Given the description of an element on the screen output the (x, y) to click on. 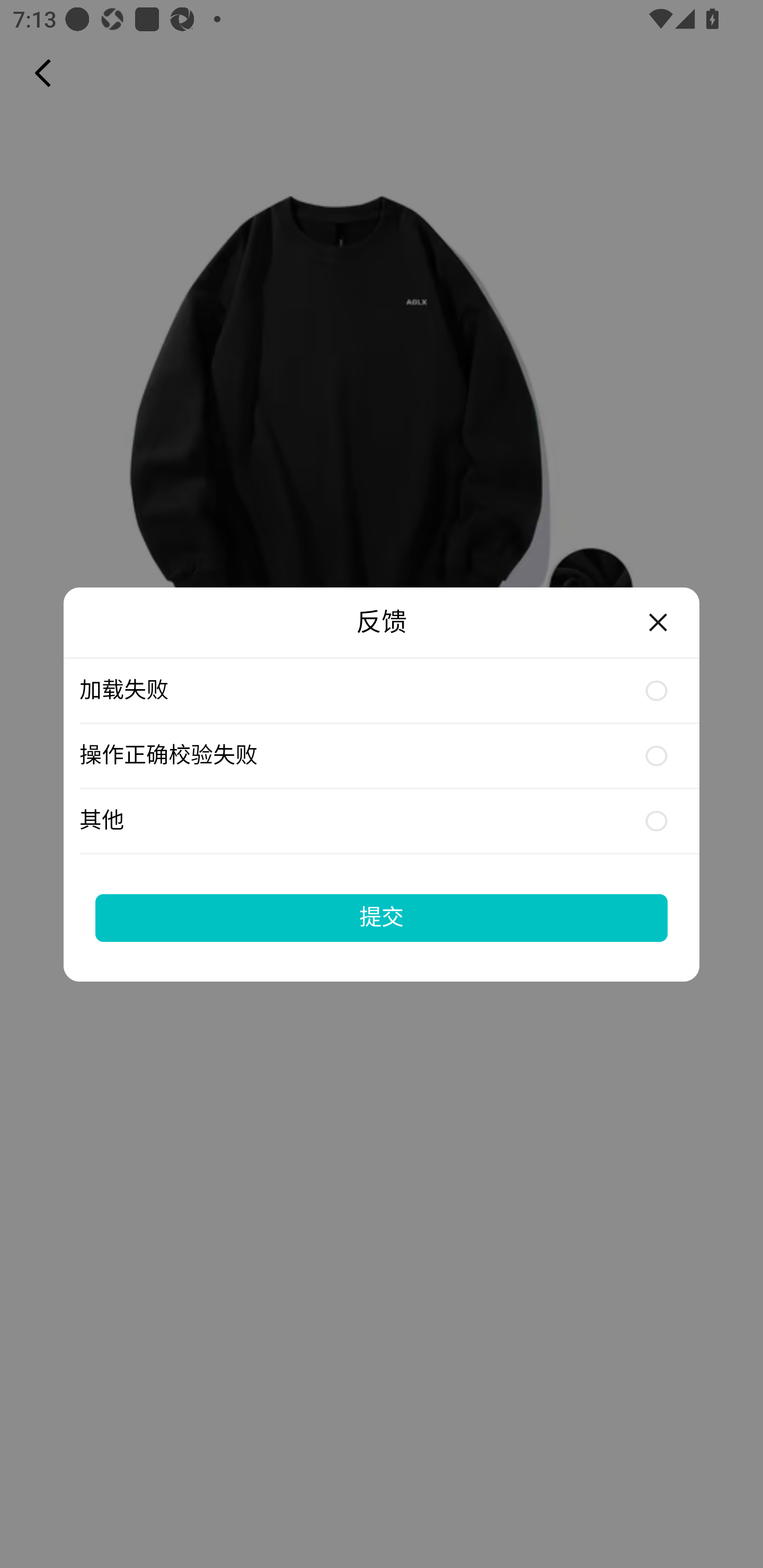
提交 (381, 917)
